Given the description of an element on the screen output the (x, y) to click on. 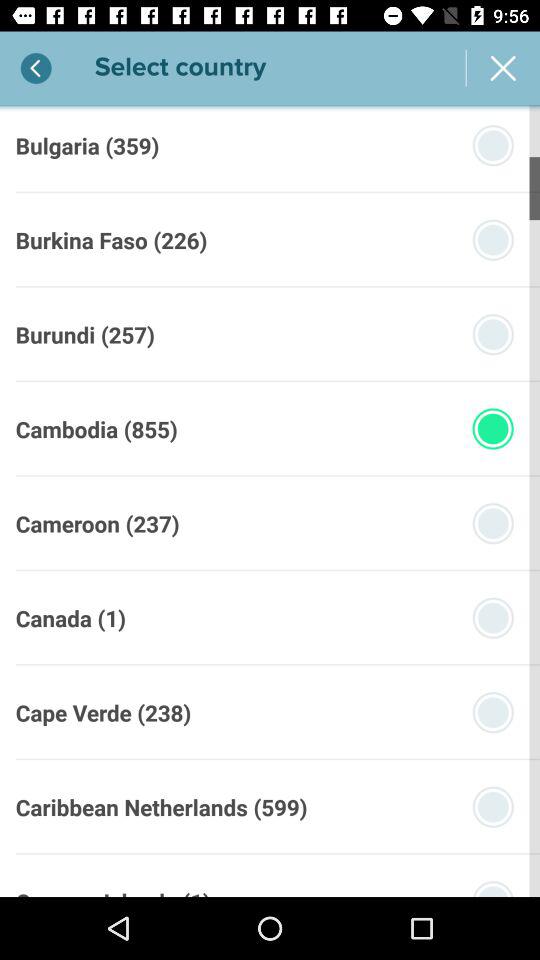
jump to burkina faso (226) item (111, 240)
